Given the description of an element on the screen output the (x, y) to click on. 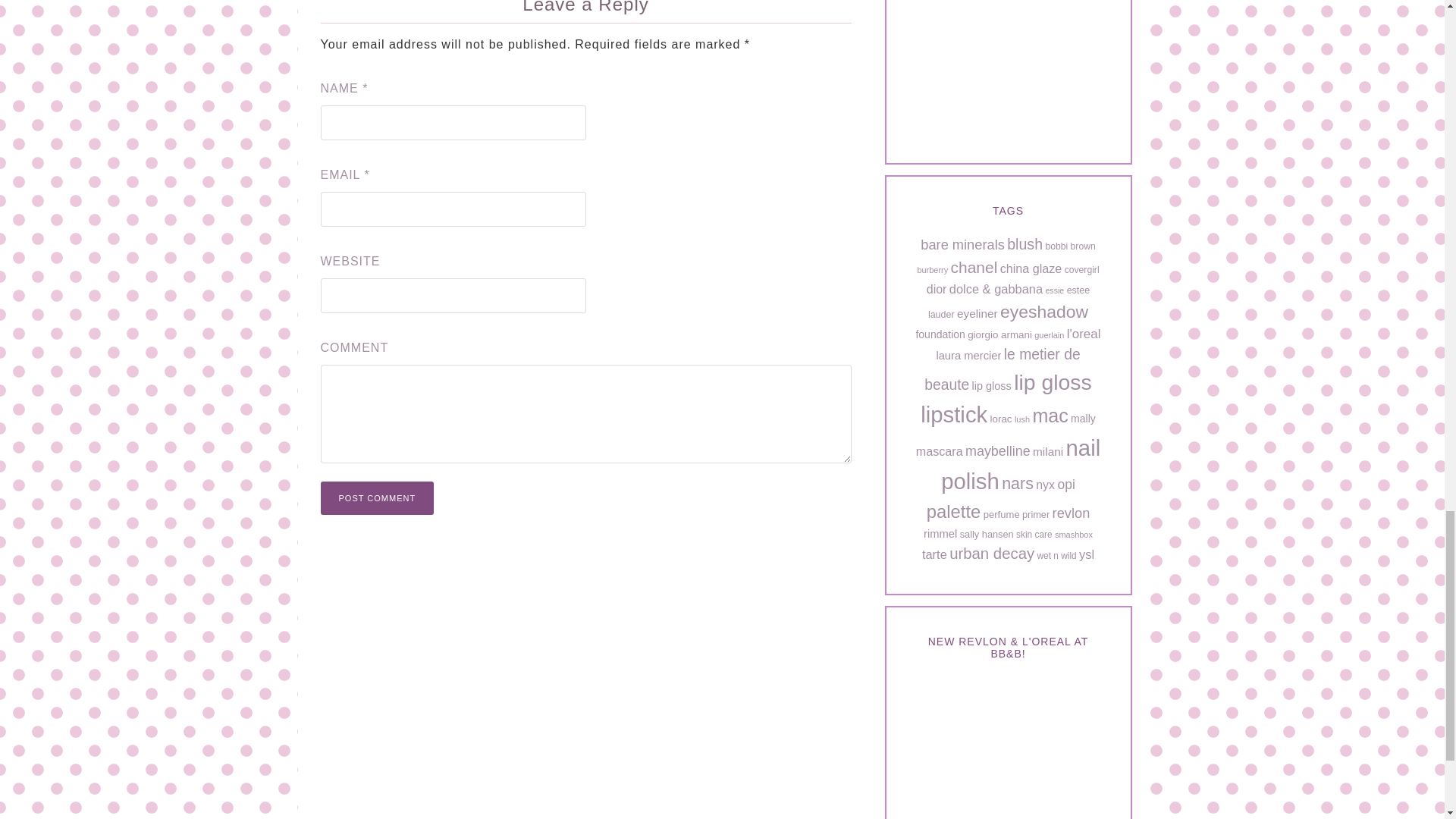
estee lauder (1008, 302)
dior (936, 288)
foundation (939, 334)
covergirl (1081, 269)
burberry (932, 269)
bare minerals (962, 244)
Post Comment (376, 498)
blush (1024, 243)
eyeliner (976, 313)
essie (1054, 289)
